Given the description of an element on the screen output the (x, y) to click on. 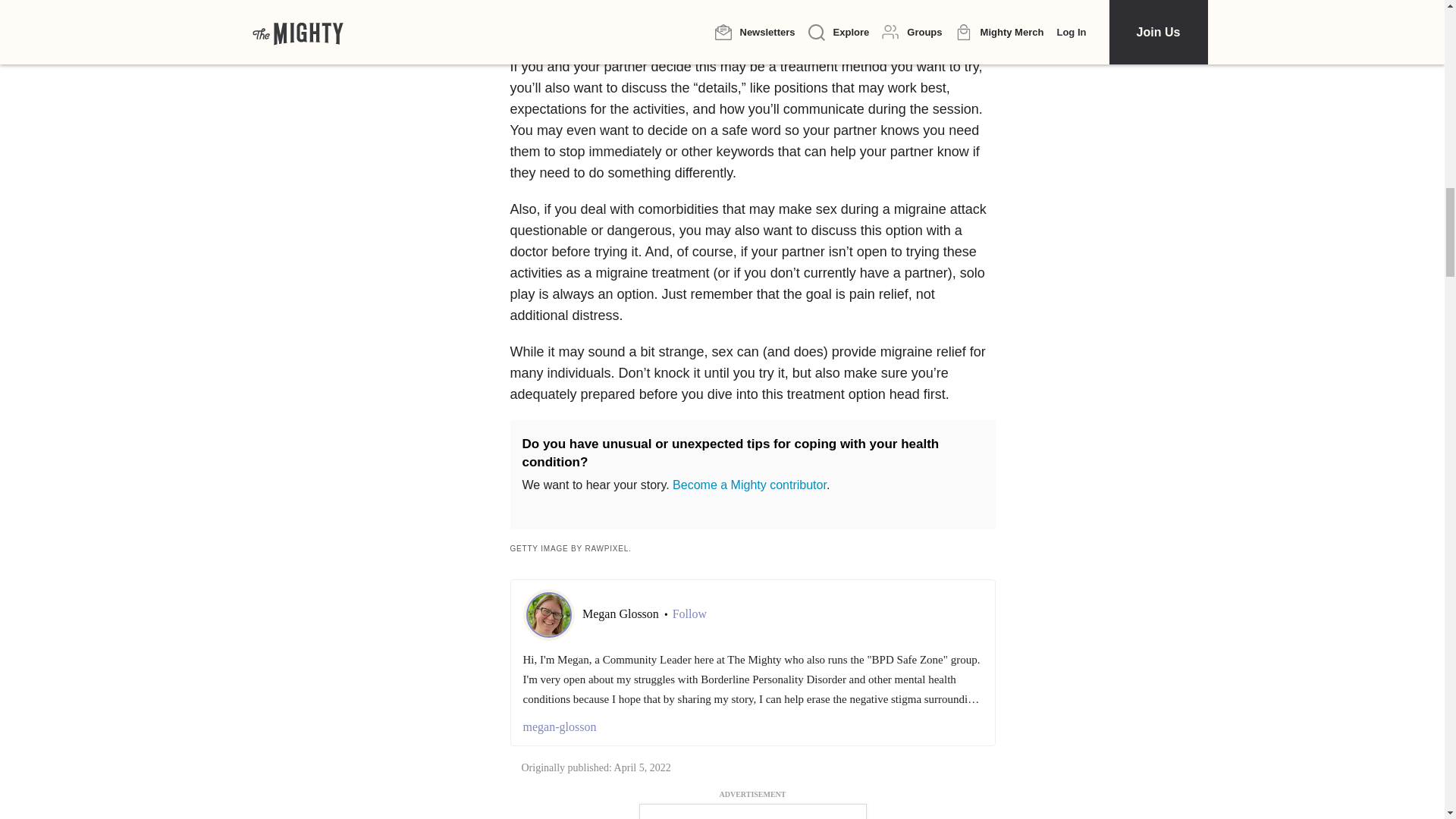
megan-glosson (752, 727)
Megan Glosson (622, 613)
Become a Mighty contributor (749, 484)
Follow (689, 613)
